Given the description of an element on the screen output the (x, y) to click on. 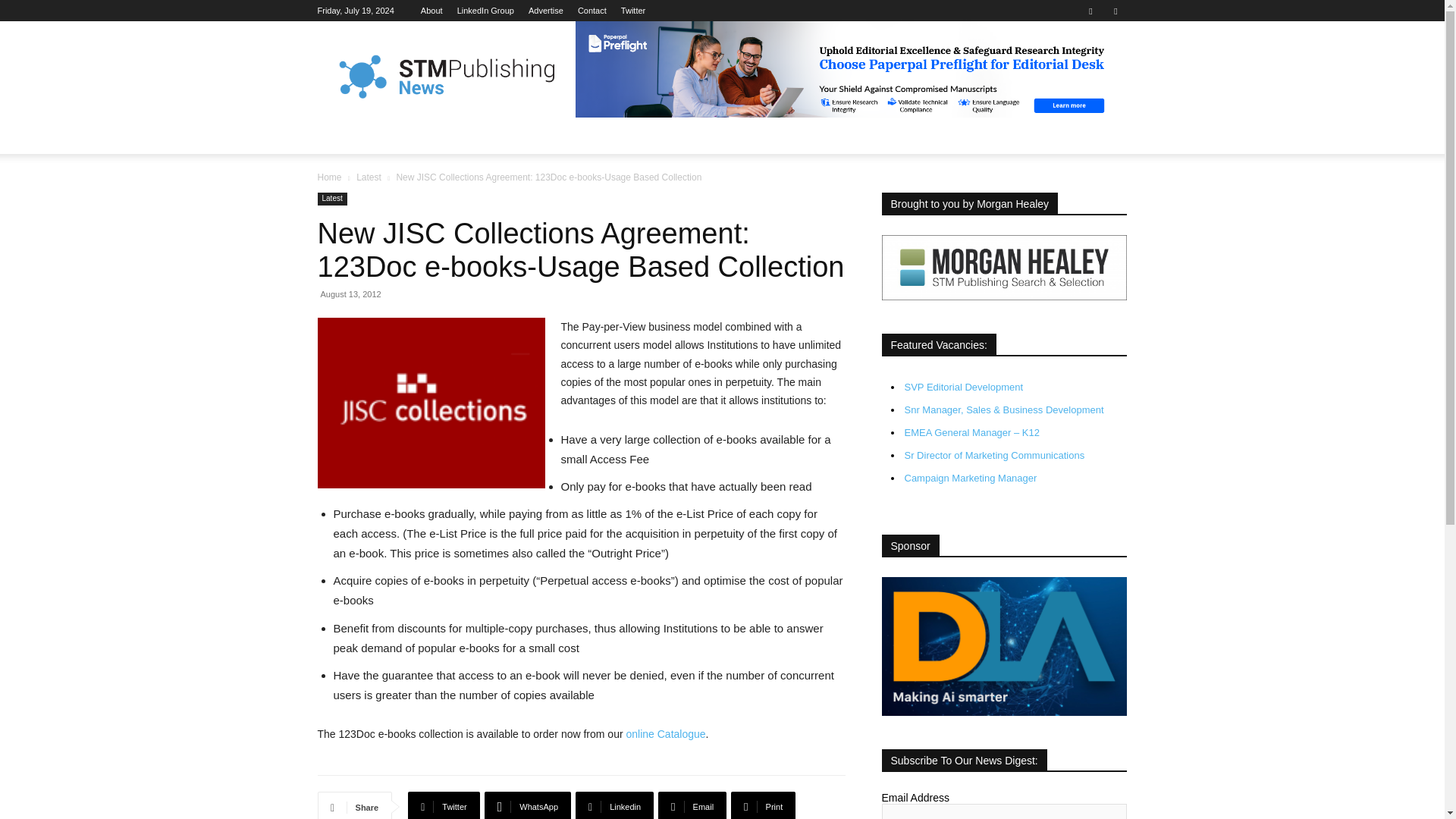
LinkedIn (485, 10)
Twitter (633, 10)
FEATURED (411, 135)
Twitter (1114, 10)
Advertise (545, 10)
About (431, 10)
Linkedin (1090, 10)
LinkedIn Group (485, 10)
HOME (342, 135)
Contact (592, 10)
